Given the description of an element on the screen output the (x, y) to click on. 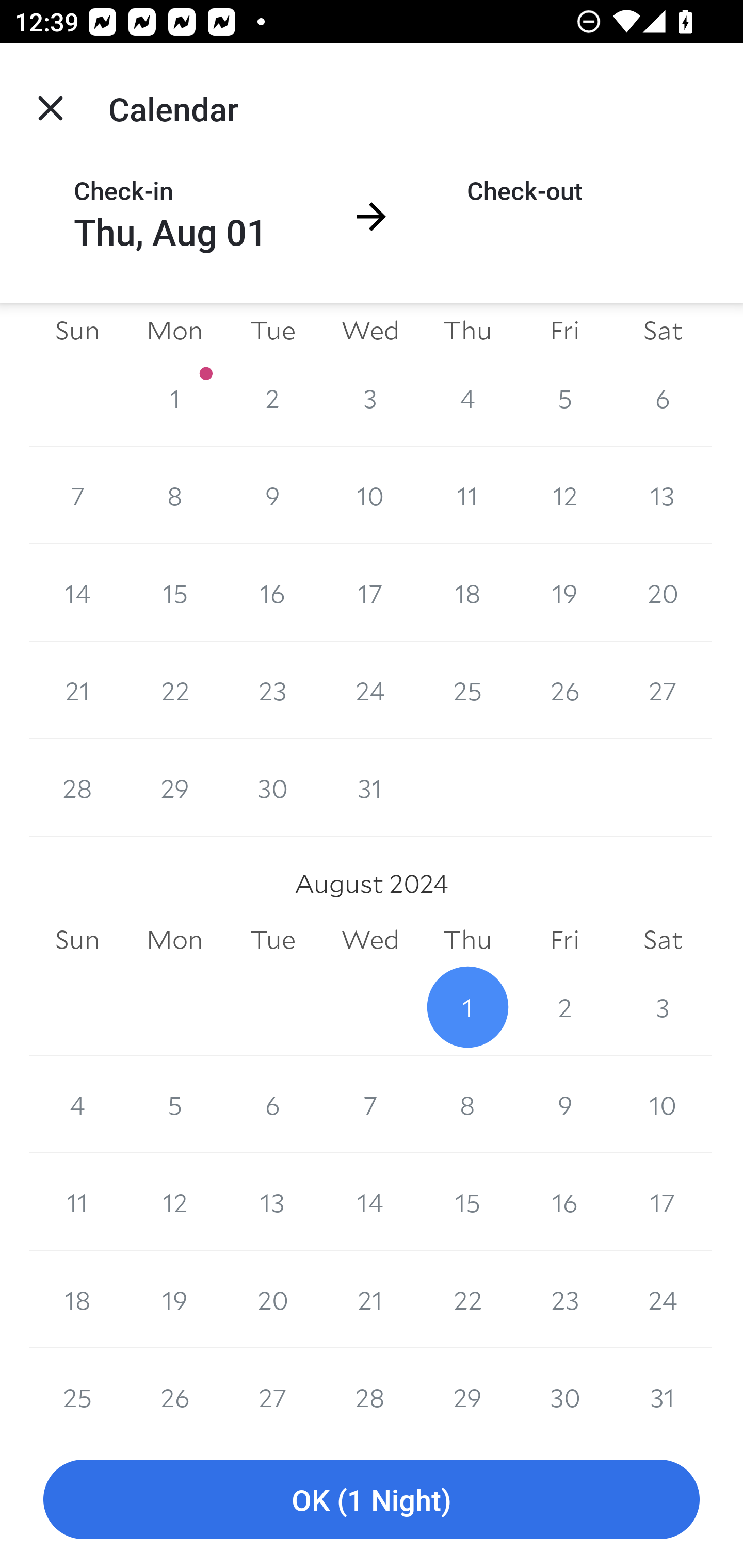
Sun (77, 330)
Mon (174, 330)
Tue (272, 330)
Wed (370, 330)
Thu (467, 330)
Fri (564, 330)
Sat (662, 330)
1 1 July 2024 (174, 397)
2 2 July 2024 (272, 397)
3 3 July 2024 (370, 397)
4 4 July 2024 (467, 397)
5 5 July 2024 (564, 397)
6 6 July 2024 (662, 397)
7 7 July 2024 (77, 495)
8 8 July 2024 (174, 495)
9 9 July 2024 (272, 495)
10 10 July 2024 (370, 495)
11 11 July 2024 (467, 495)
12 12 July 2024 (564, 495)
13 13 July 2024 (662, 495)
14 14 July 2024 (77, 592)
15 15 July 2024 (174, 592)
16 16 July 2024 (272, 592)
17 17 July 2024 (370, 592)
18 18 July 2024 (467, 592)
19 19 July 2024 (564, 592)
20 20 July 2024 (662, 592)
21 21 July 2024 (77, 689)
22 22 July 2024 (174, 689)
23 23 July 2024 (272, 689)
24 24 July 2024 (370, 689)
25 25 July 2024 (467, 689)
26 26 July 2024 (564, 689)
27 27 July 2024 (662, 689)
28 28 July 2024 (77, 787)
29 29 July 2024 (174, 787)
30 30 July 2024 (272, 787)
31 31 July 2024 (370, 787)
Sun (77, 939)
Mon (174, 939)
Tue (272, 939)
Wed (370, 939)
Thu (467, 939)
Fri (564, 939)
Sat (662, 939)
1 1 August 2024 (467, 1006)
2 2 August 2024 (564, 1006)
3 3 August 2024 (662, 1006)
4 4 August 2024 (77, 1104)
5 5 August 2024 (174, 1104)
6 6 August 2024 (272, 1104)
7 7 August 2024 (370, 1104)
8 8 August 2024 (467, 1104)
9 9 August 2024 (564, 1104)
10 10 August 2024 (662, 1104)
11 11 August 2024 (77, 1202)
12 12 August 2024 (174, 1202)
13 13 August 2024 (272, 1202)
14 14 August 2024 (370, 1202)
15 15 August 2024 (467, 1202)
16 16 August 2024 (564, 1202)
17 17 August 2024 (662, 1202)
18 18 August 2024 (77, 1299)
19 19 August 2024 (174, 1299)
20 20 August 2024 (272, 1299)
21 21 August 2024 (370, 1299)
22 22 August 2024 (467, 1299)
23 23 August 2024 (564, 1299)
24 24 August 2024 (662, 1299)
25 25 August 2024 (77, 1389)
26 26 August 2024 (174, 1389)
27 27 August 2024 (272, 1389)
28 28 August 2024 (370, 1389)
29 29 August 2024 (467, 1389)
30 30 August 2024 (564, 1389)
31 31 August 2024 (662, 1389)
OK (1 Night) (371, 1499)
